Given the description of an element on the screen output the (x, y) to click on. 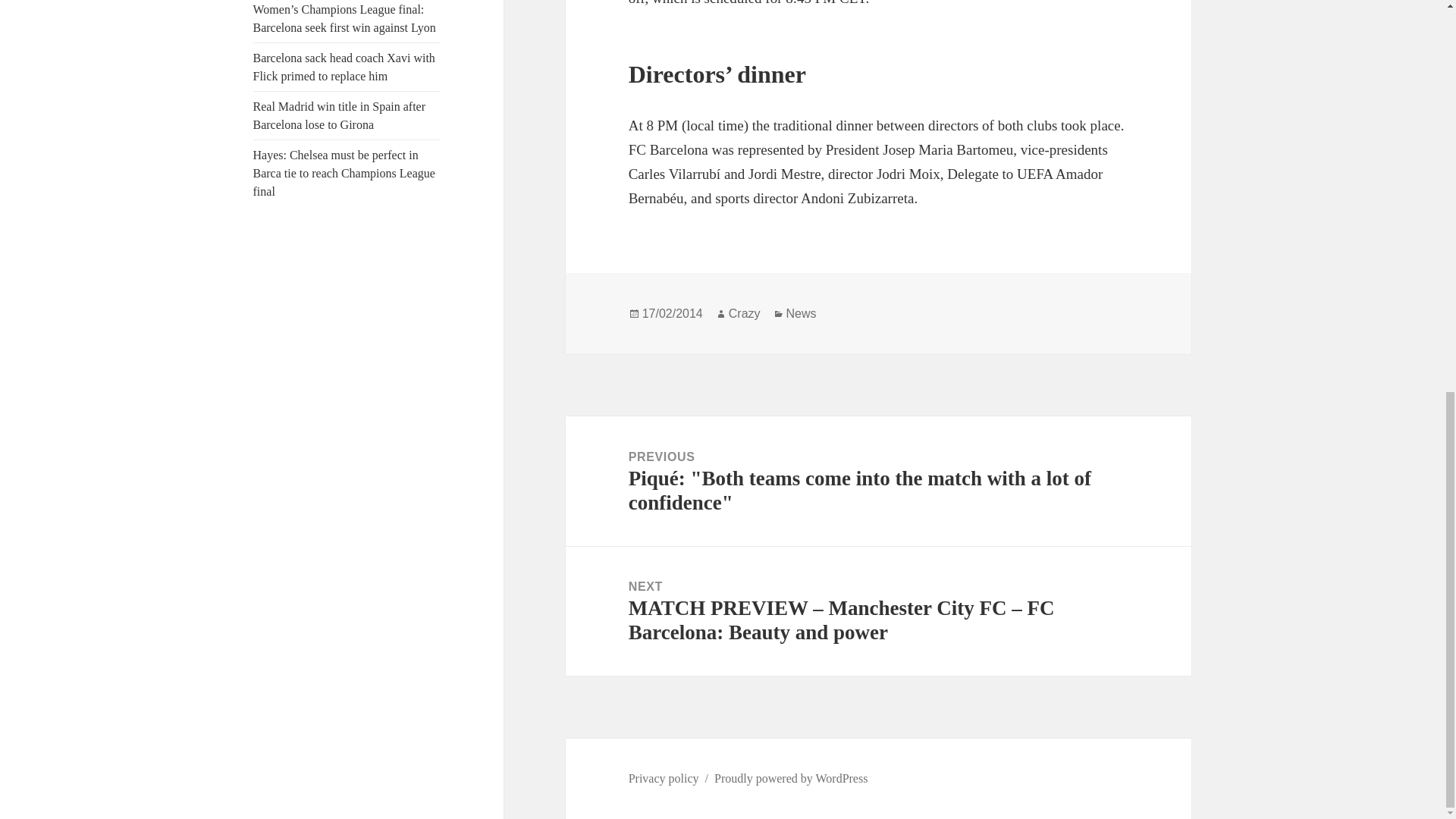
Crazy (744, 314)
Proudly powered by WordPress (790, 778)
Privacy policy (663, 778)
News (801, 314)
